Given the description of an element on the screen output the (x, y) to click on. 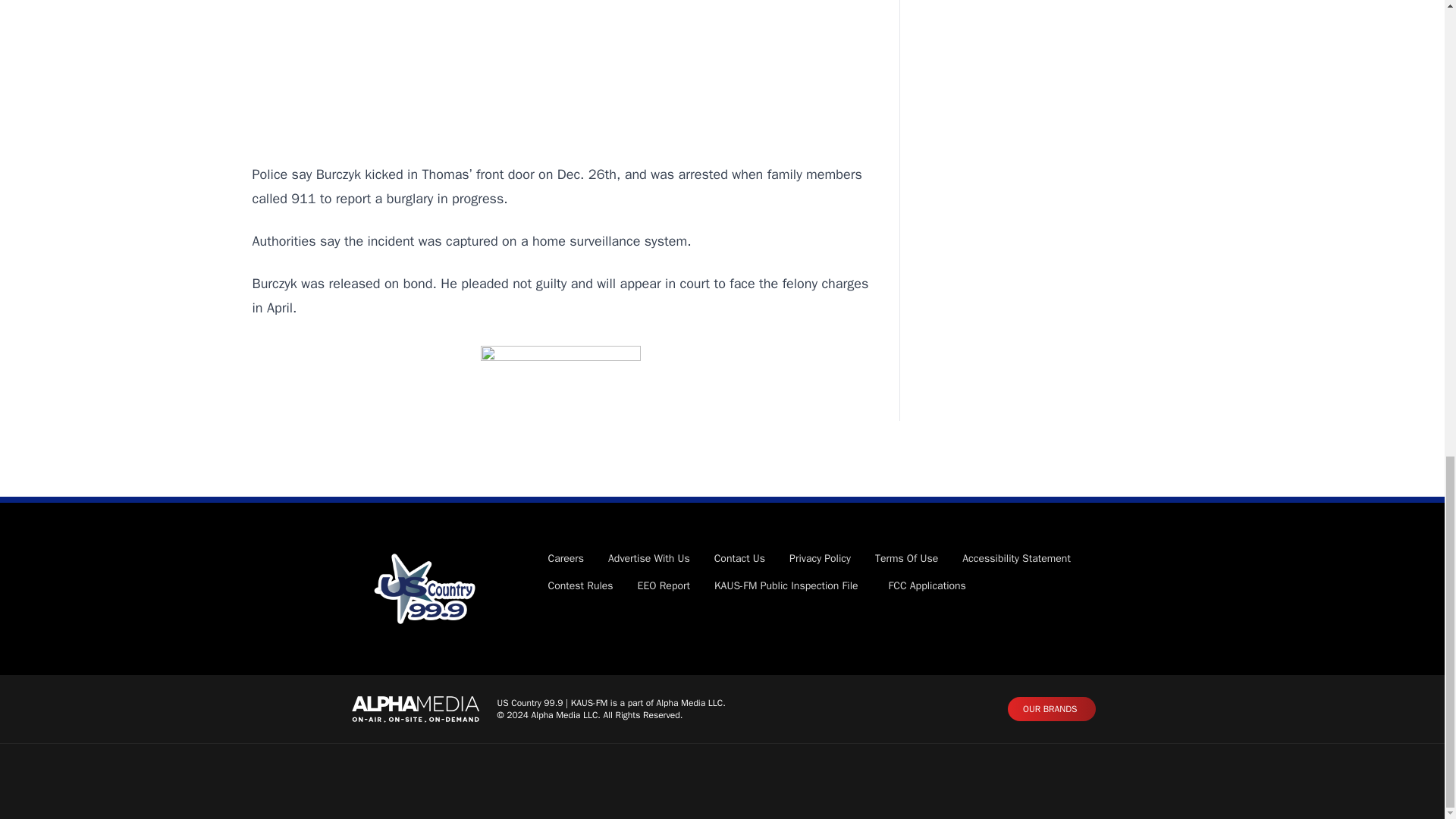
3rd party ad content (560, 65)
